Given the description of an element on the screen output the (x, y) to click on. 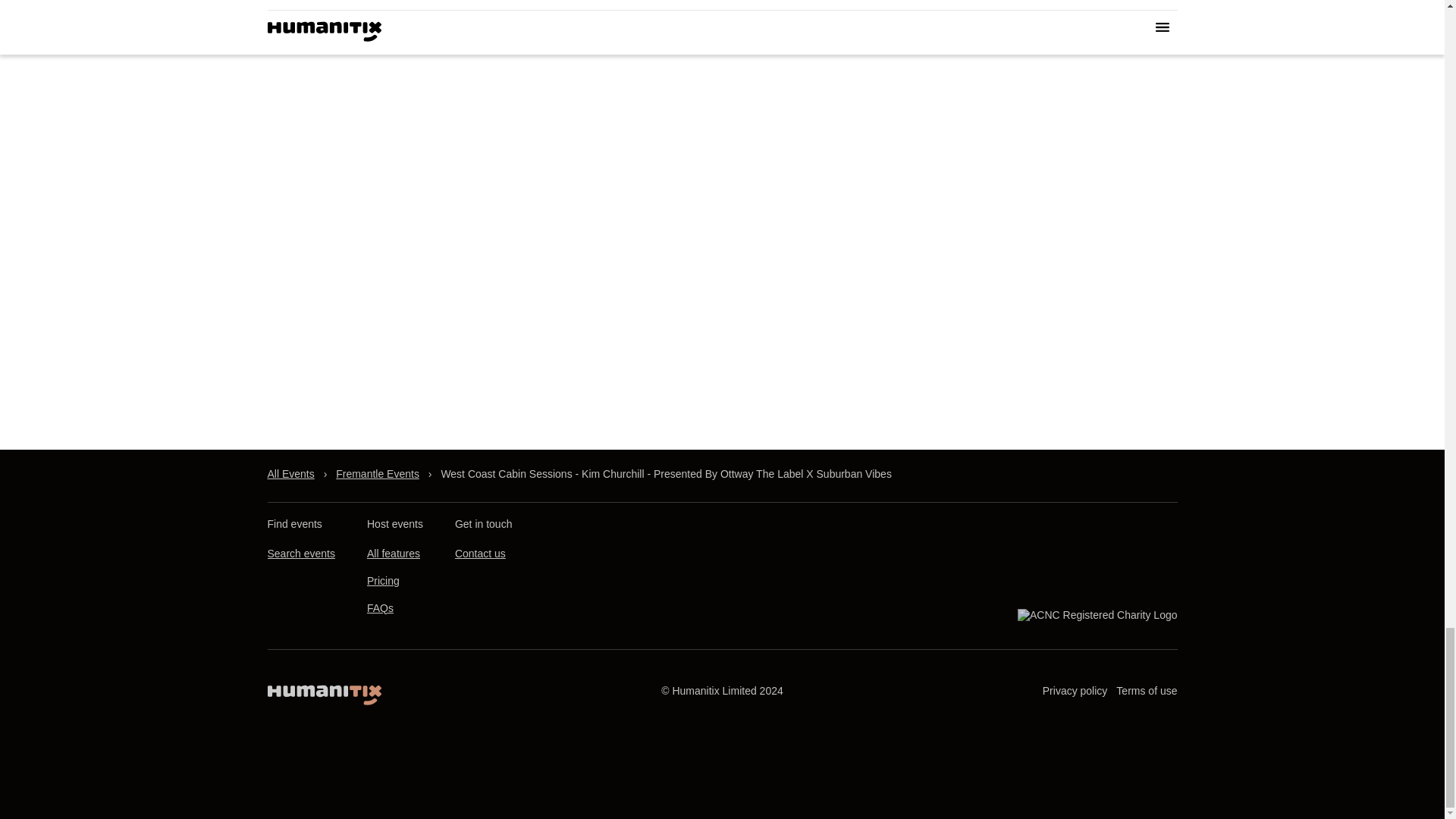
All Events (290, 473)
Search events (300, 553)
Fremantle Events (377, 473)
